Given the description of an element on the screen output the (x, y) to click on. 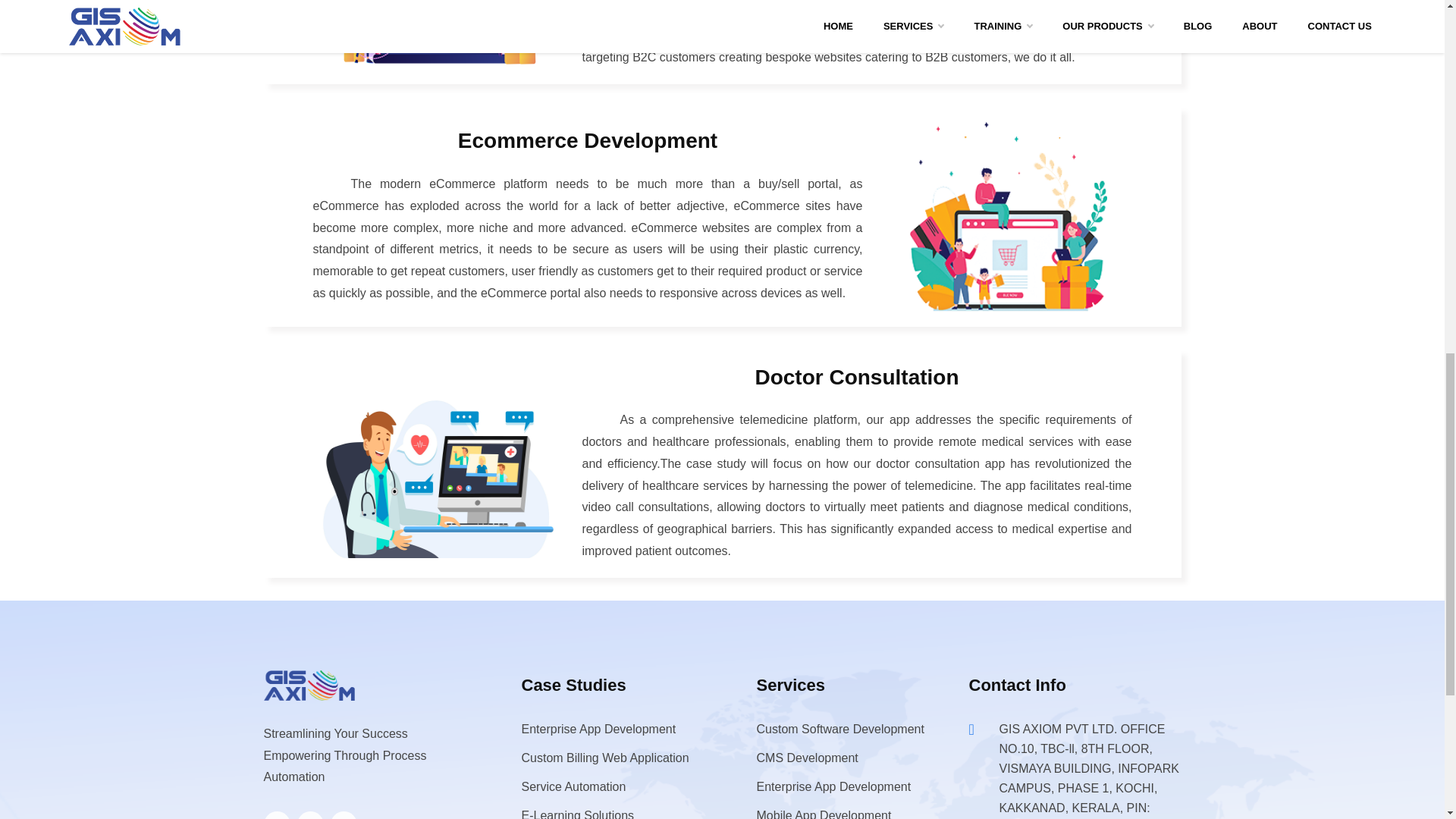
Mobile App Development (824, 814)
Custom Billing Web Application (604, 757)
Custom Software Development (840, 728)
E-Learning Solutions (577, 814)
Enterprise App Development (599, 728)
CMS Development (808, 757)
Enterprise App Development (834, 786)
Service Automation (573, 786)
